Given the description of an element on the screen output the (x, y) to click on. 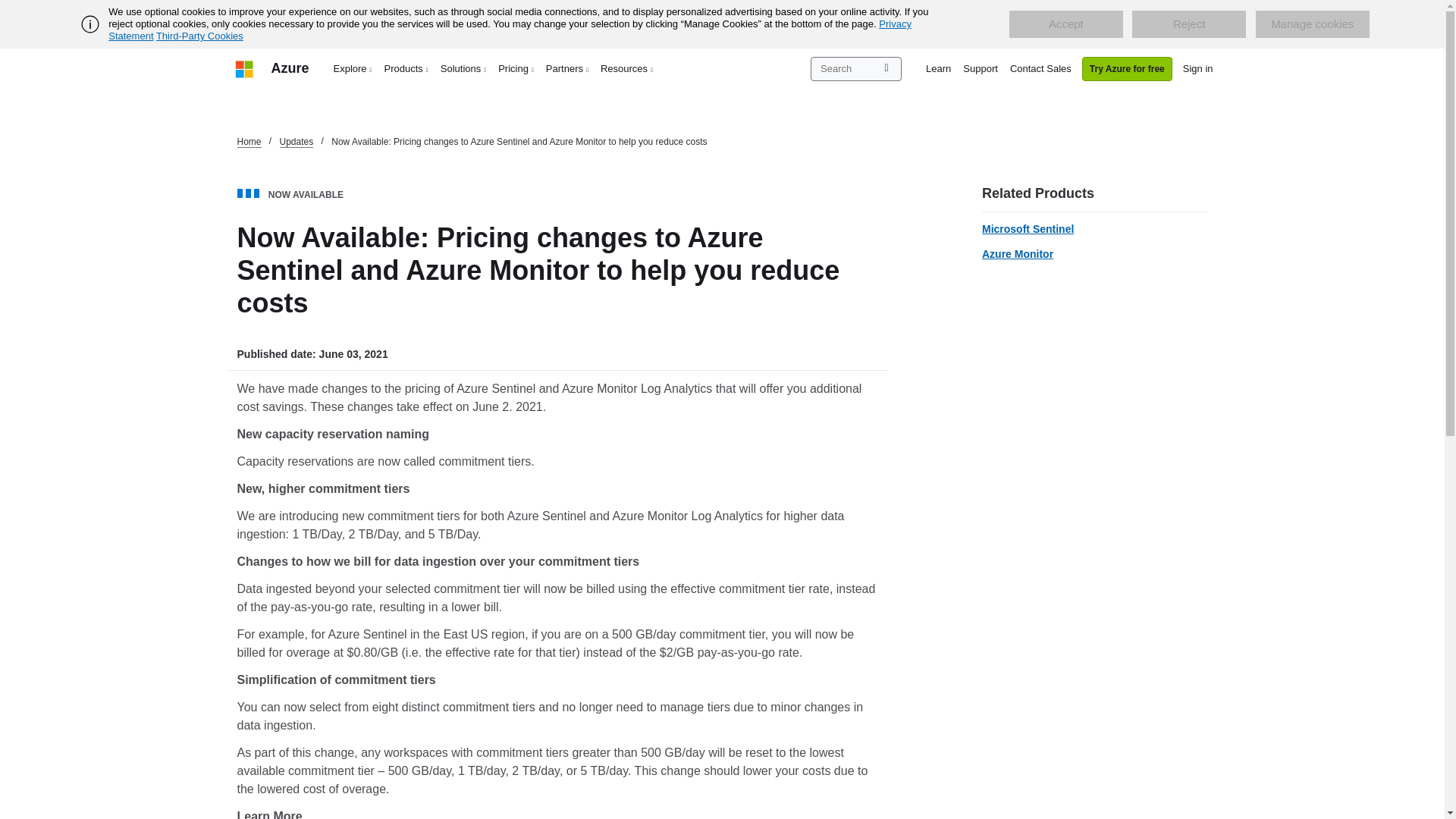
Privacy Statement (509, 29)
Products (405, 68)
Skip to main content (7, 7)
Accept (1065, 23)
Azure (289, 68)
Explore (352, 68)
Third-Party Cookies (199, 35)
Reject (1189, 23)
Manage cookies (1312, 23)
